Given the description of an element on the screen output the (x, y) to click on. 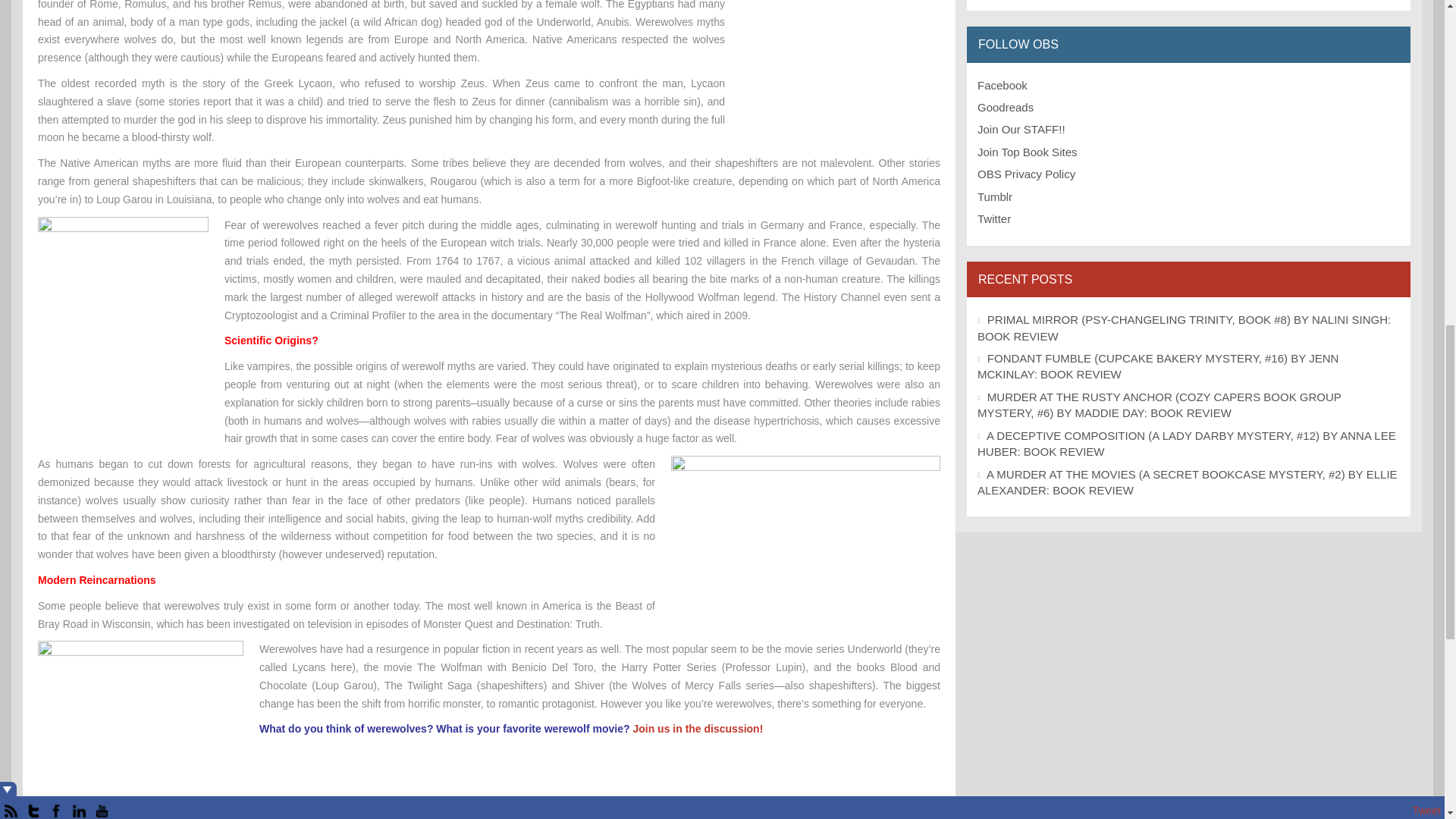
WEREWOLVES- A FIELD GUIDE (491, 812)
Follow us on our Facebook Group (1001, 84)
WEREWOLVES- A FIELD GUIDE (419, 812)
